Given the description of an element on the screen output the (x, y) to click on. 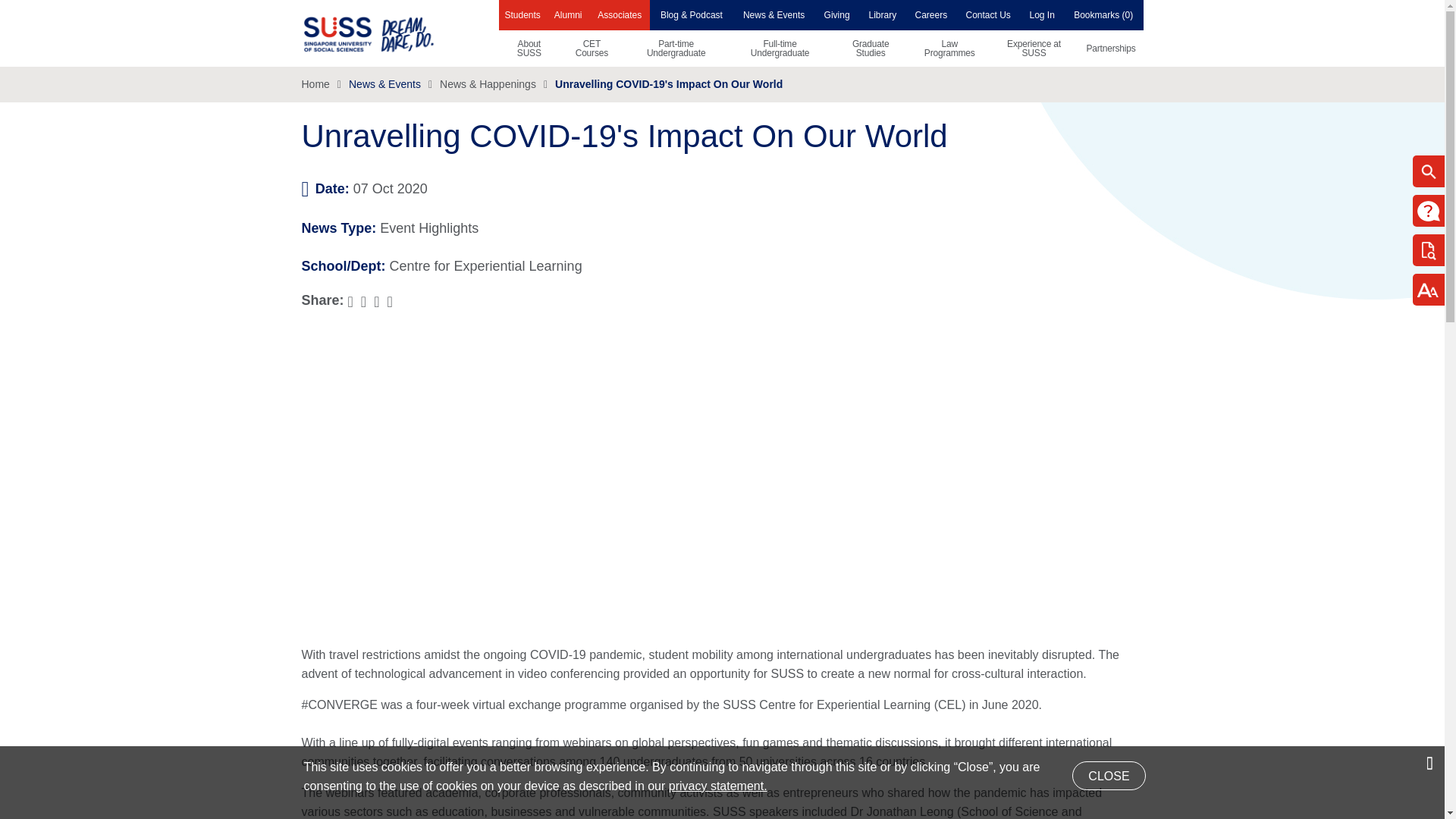
Singapore University of Social Sciences (394, 33)
About SUSS (529, 48)
About SUSS (529, 48)
